Given the description of an element on the screen output the (x, y) to click on. 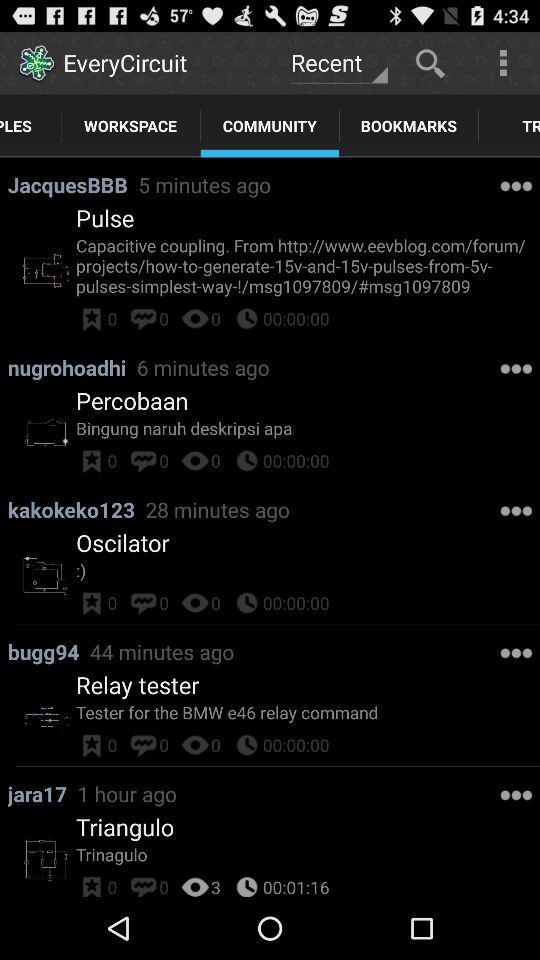
turn on item next to 5 minutes ago (105, 218)
